Given the description of an element on the screen output the (x, y) to click on. 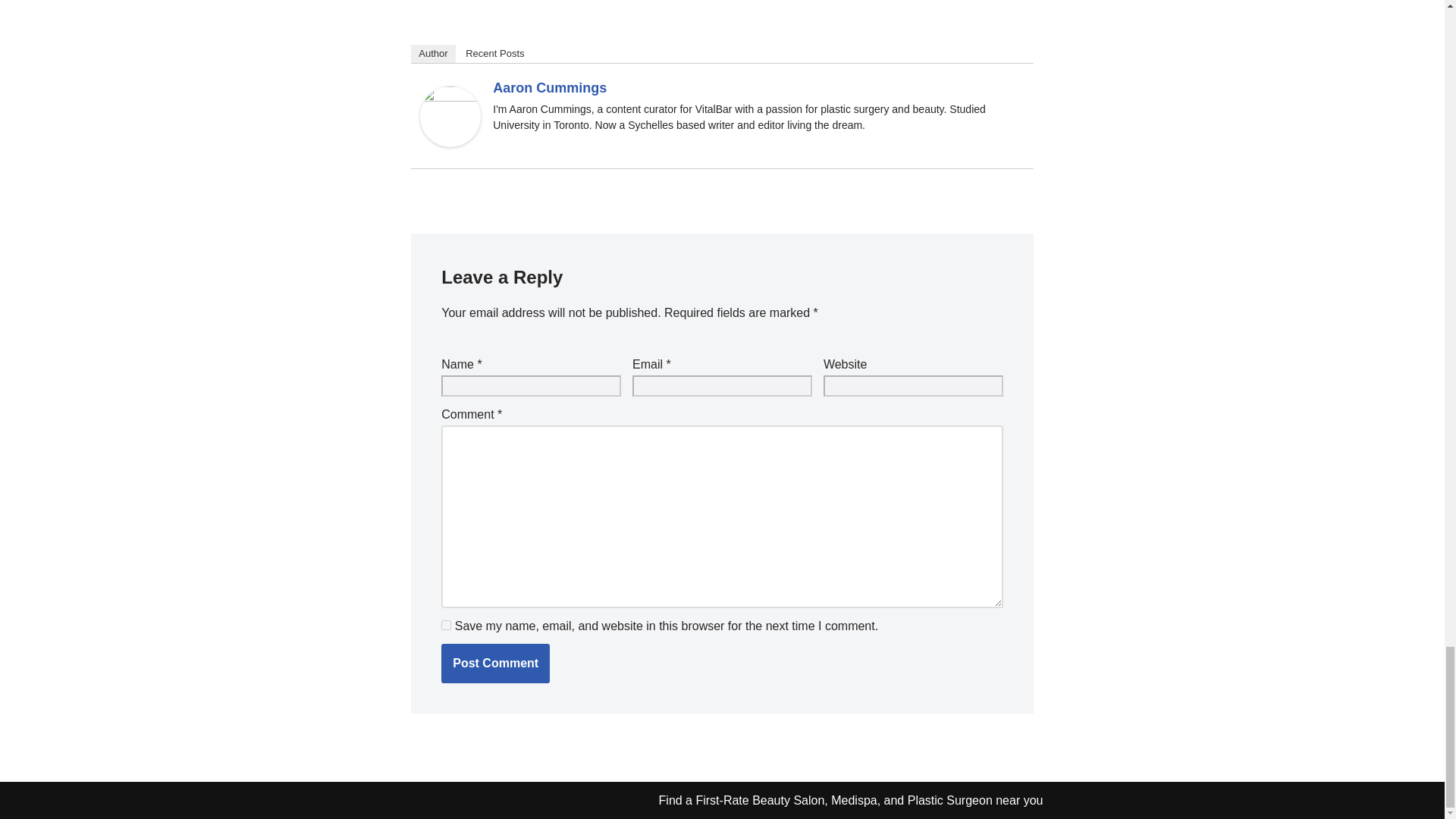
Aaron Cummings (550, 87)
Post Comment (495, 663)
yes (446, 624)
Author (432, 54)
Post Comment (495, 663)
Recent Posts (494, 54)
Aaron Cummings (450, 142)
